Given the description of an element on the screen output the (x, y) to click on. 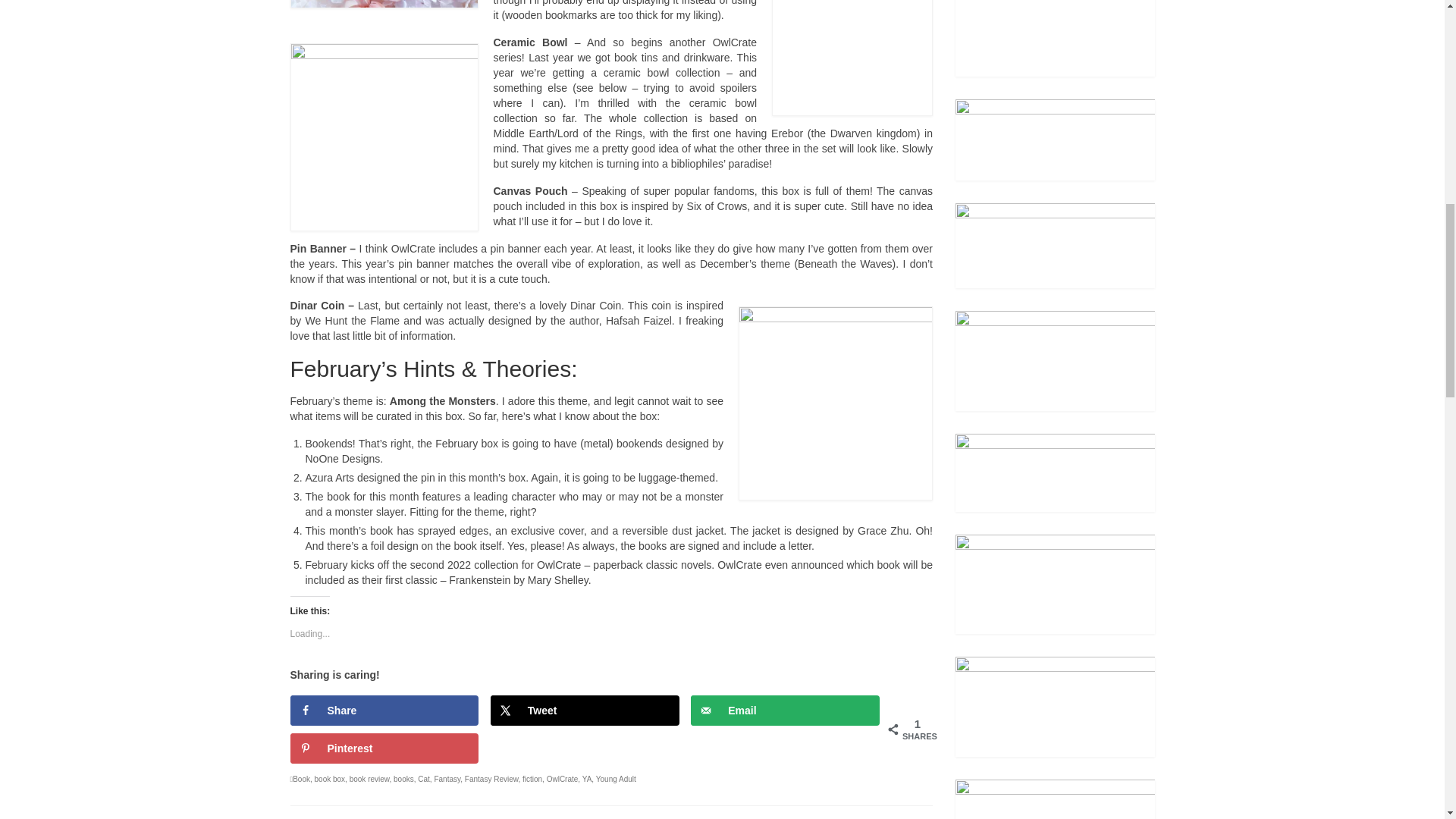
books (403, 778)
YA (587, 778)
Share (384, 710)
Book (301, 778)
Send over email (784, 710)
Fantasy (446, 778)
fiction (531, 778)
book review (369, 778)
Fantasy Review (491, 778)
OwlCrate (562, 778)
Cat (423, 778)
Share on Facebook (384, 710)
Pinterest (384, 748)
book box (330, 778)
Young Adult (615, 778)
